Given the description of an element on the screen output the (x, y) to click on. 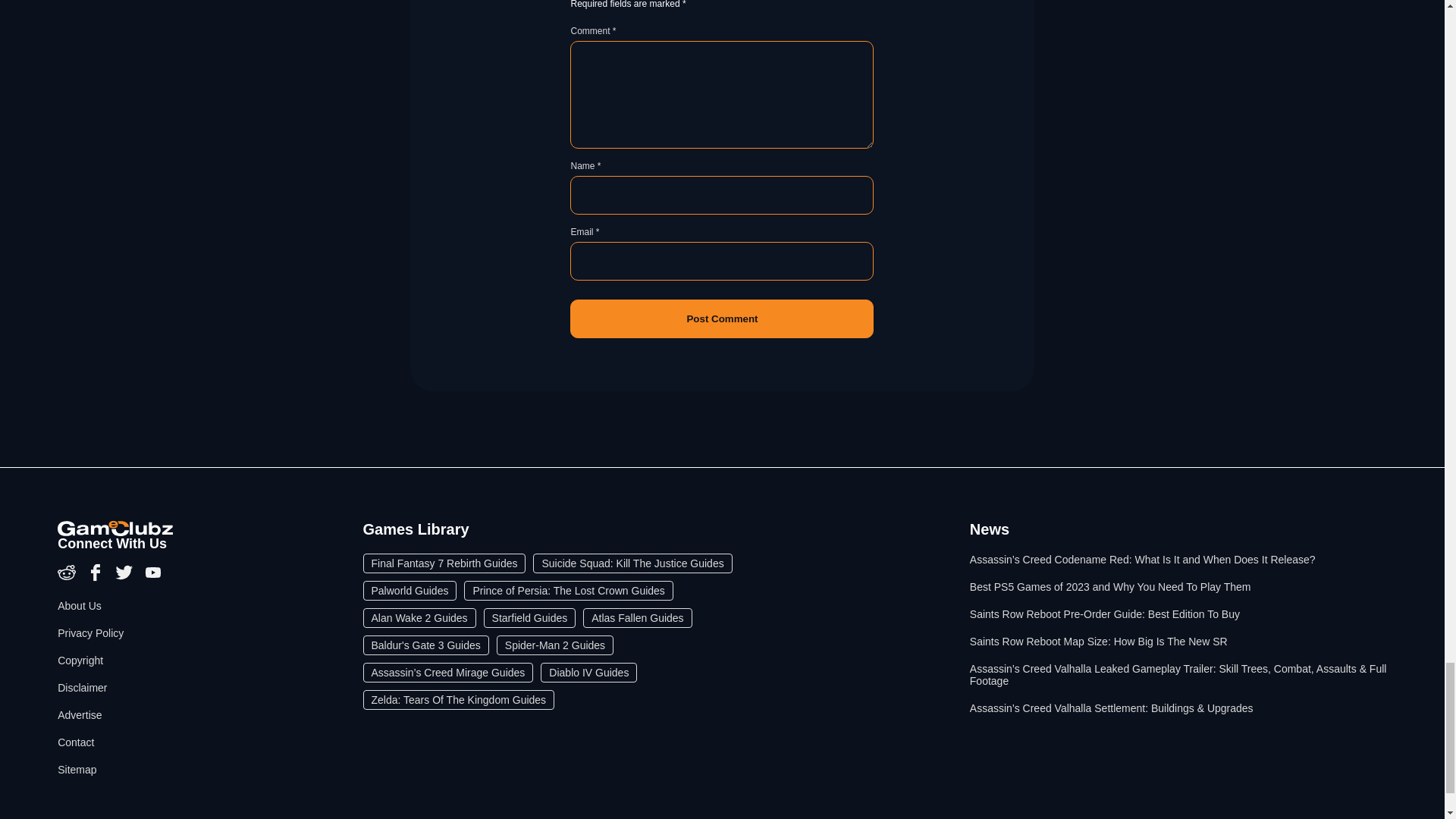
instagram (68, 577)
youtube (152, 577)
twitter (125, 577)
facebook (96, 577)
Post Comment (721, 318)
